Given the description of an element on the screen output the (x, y) to click on. 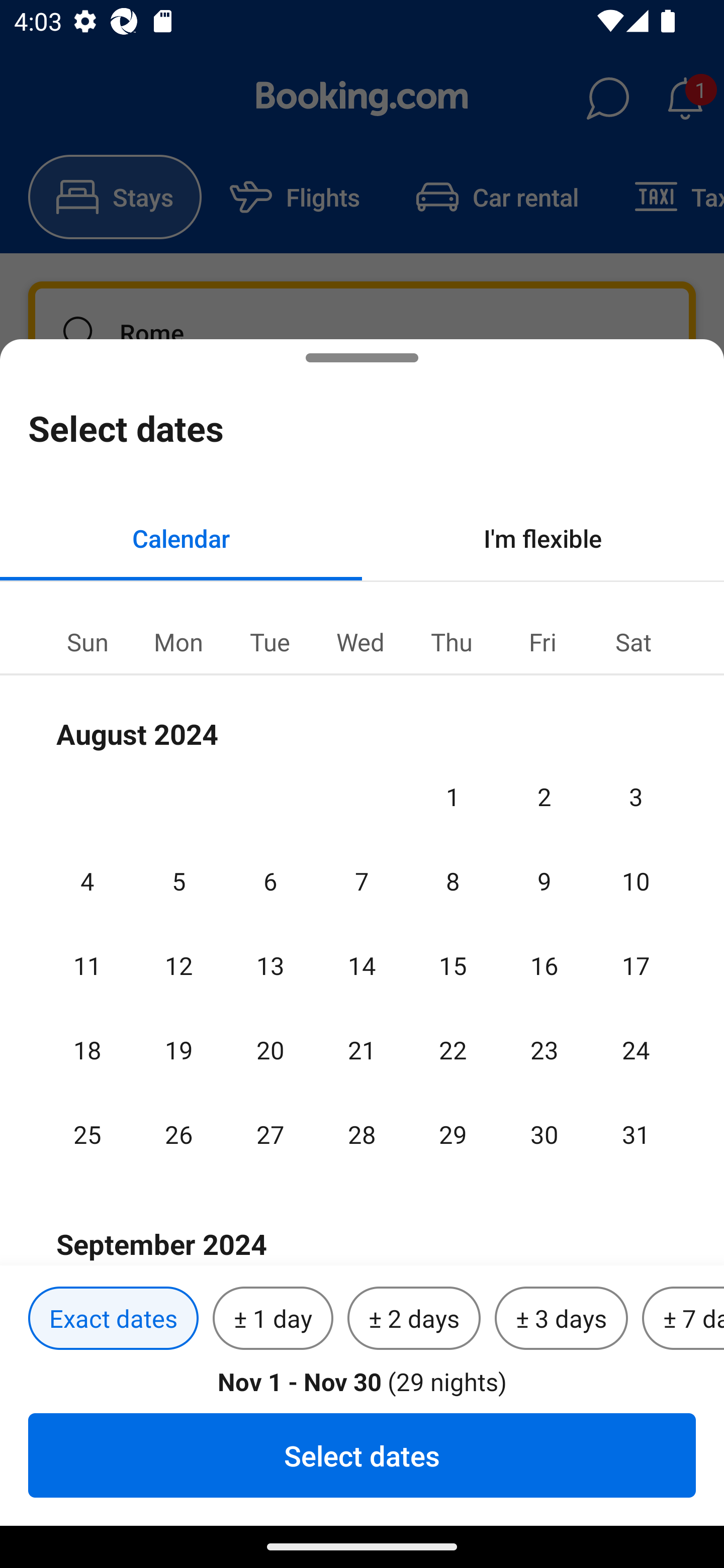
I'm flexible (543, 537)
Exact dates (113, 1318)
± 1 day (272, 1318)
± 2 days (413, 1318)
± 3 days (560, 1318)
± 7 days (683, 1318)
Select dates (361, 1454)
